Given the description of an element on the screen output the (x, y) to click on. 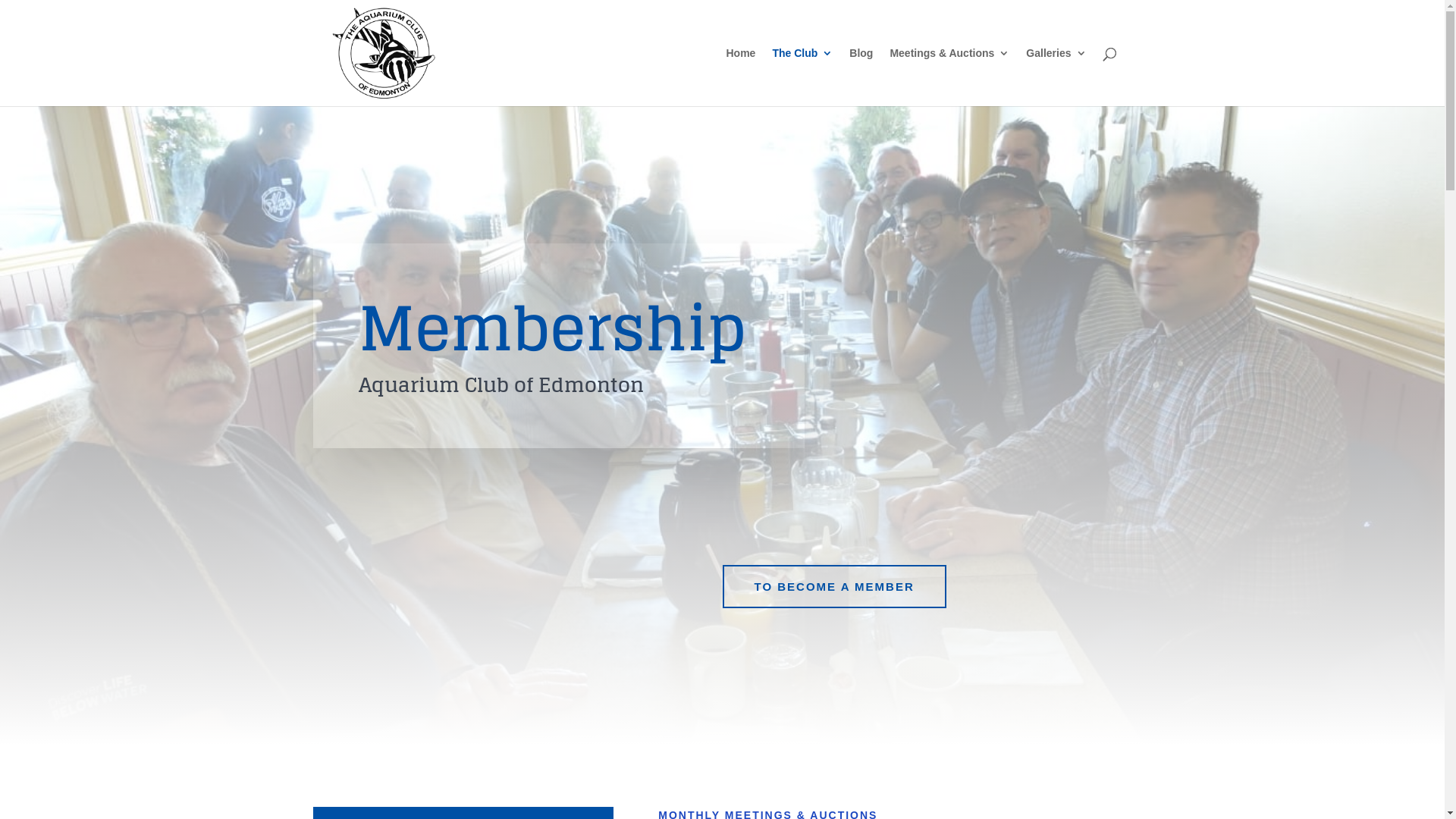
TO BECOME A MEMBER Element type: text (833, 586)
Blog Element type: text (860, 76)
Home Element type: text (741, 76)
Meetings & Auctions Element type: text (949, 76)
The Club Element type: text (801, 76)
Galleries Element type: text (1055, 76)
